Given the description of an element on the screen output the (x, y) to click on. 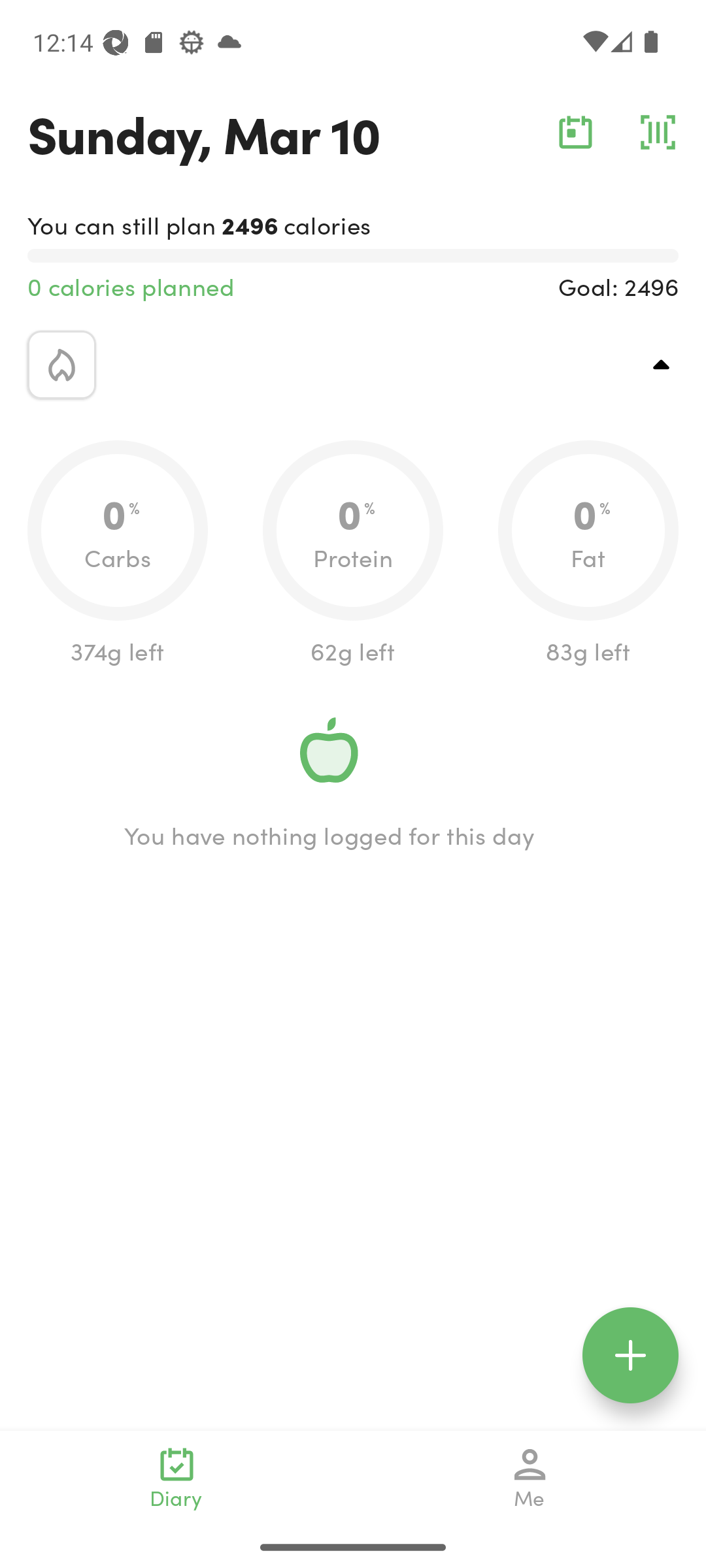
calendar_action (575, 132)
barcode_action (658, 132)
calorie_icon (62, 365)
top_right_action (661, 365)
0.0 0 % Carbs 374g left (117, 553)
0.0 0 % Protein 62g left (352, 553)
0.0 0 % Fat 83g left (588, 553)
floating_action_icon (630, 1355)
Me navigation_icon (529, 1478)
